Given the description of an element on the screen output the (x, y) to click on. 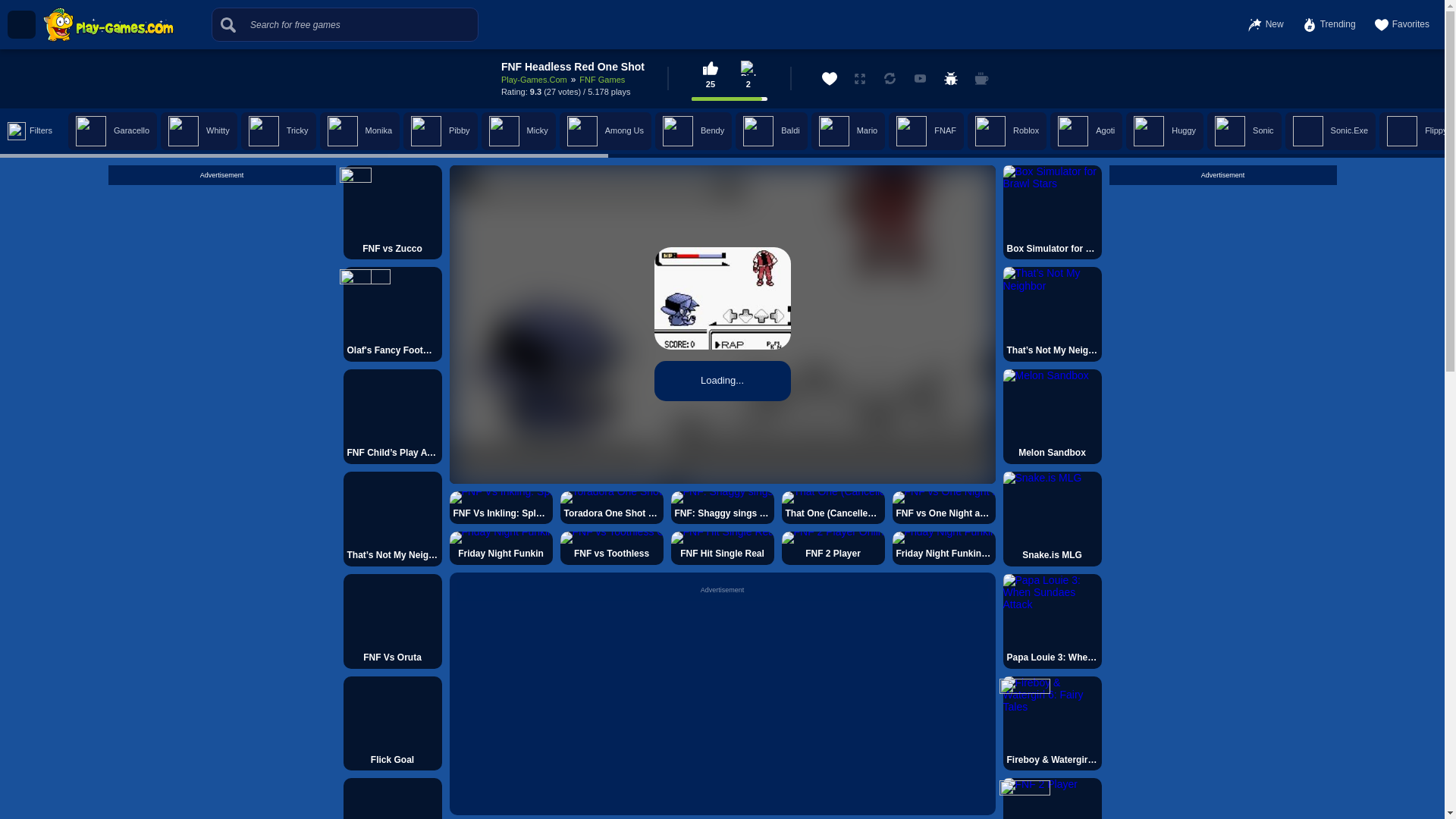
FNF Games (601, 79)
Play Games Online (108, 24)
Show Game Library (20, 24)
Trending (1328, 24)
Play-Games.Com (533, 79)
New (1265, 24)
Favorites (1402, 24)
